Given the description of an element on the screen output the (x, y) to click on. 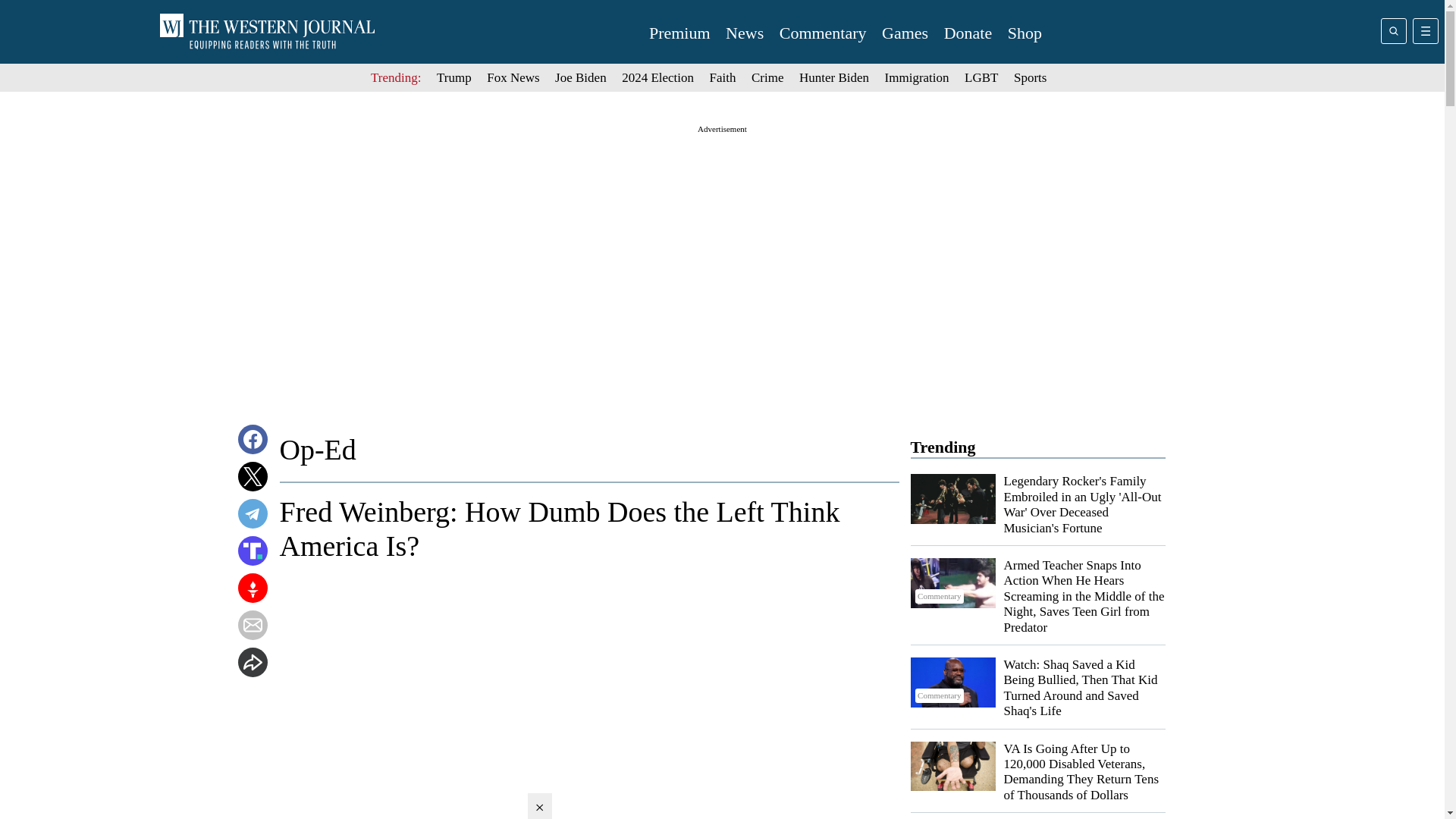
LGBT (980, 77)
Donate (967, 32)
Faith (723, 77)
Commentary (952, 682)
Crime (767, 77)
Games (905, 32)
Shop (1024, 32)
Fox News (512, 77)
